Given the description of an element on the screen output the (x, y) to click on. 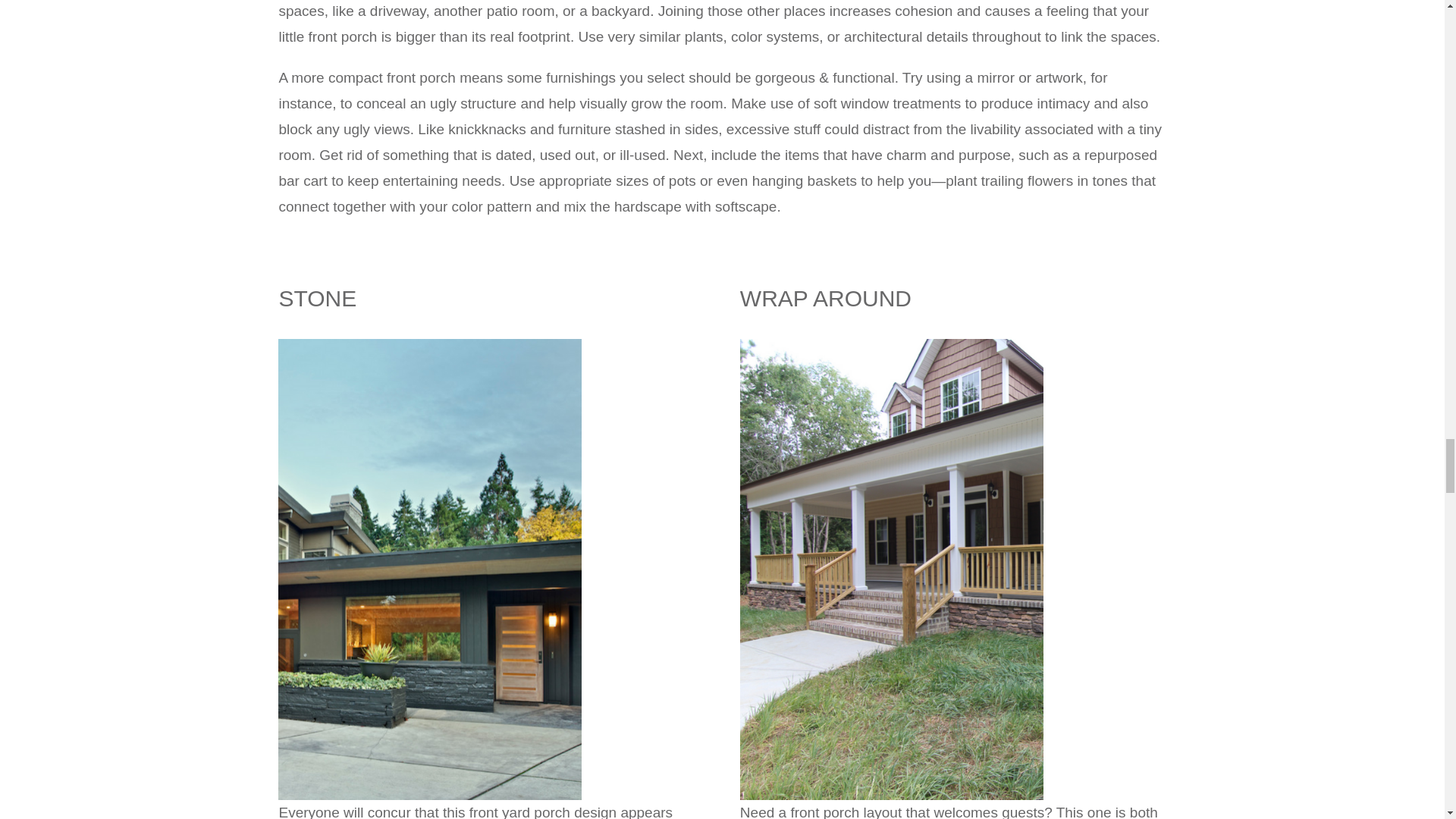
front-back-porch-ideas-sebring-design-build-16 (891, 345)
front-back-porch-ideas-sebring-design-build-15 (429, 345)
